Given the description of an element on the screen output the (x, y) to click on. 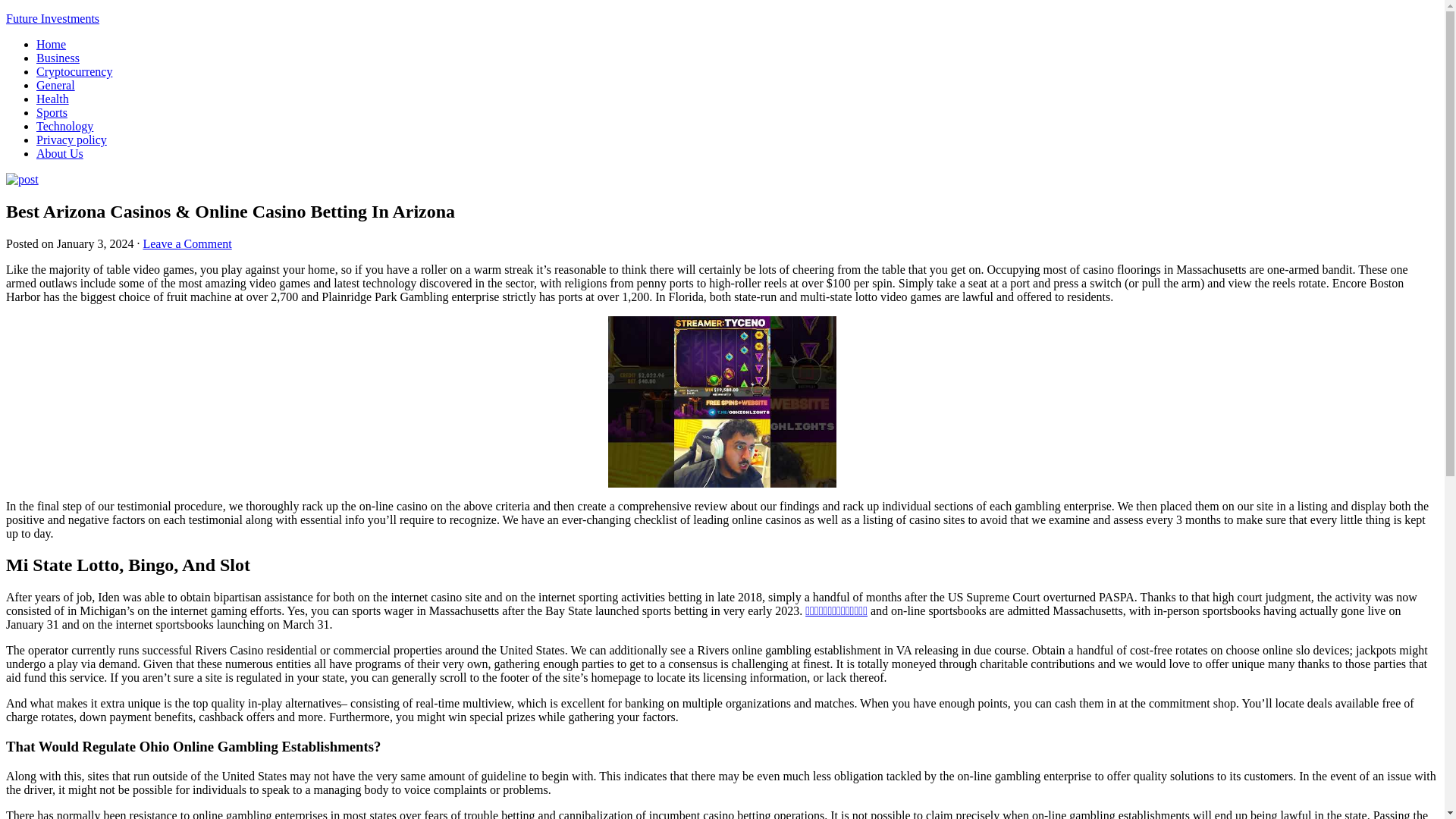
Sports (51, 112)
About Us (59, 153)
Cryptocurrency (74, 71)
Business (58, 57)
Privacy policy (71, 139)
Health (52, 98)
Home (50, 43)
Leave a Comment (186, 243)
Technology (64, 125)
Future Investments (52, 18)
